Given the description of an element on the screen output the (x, y) to click on. 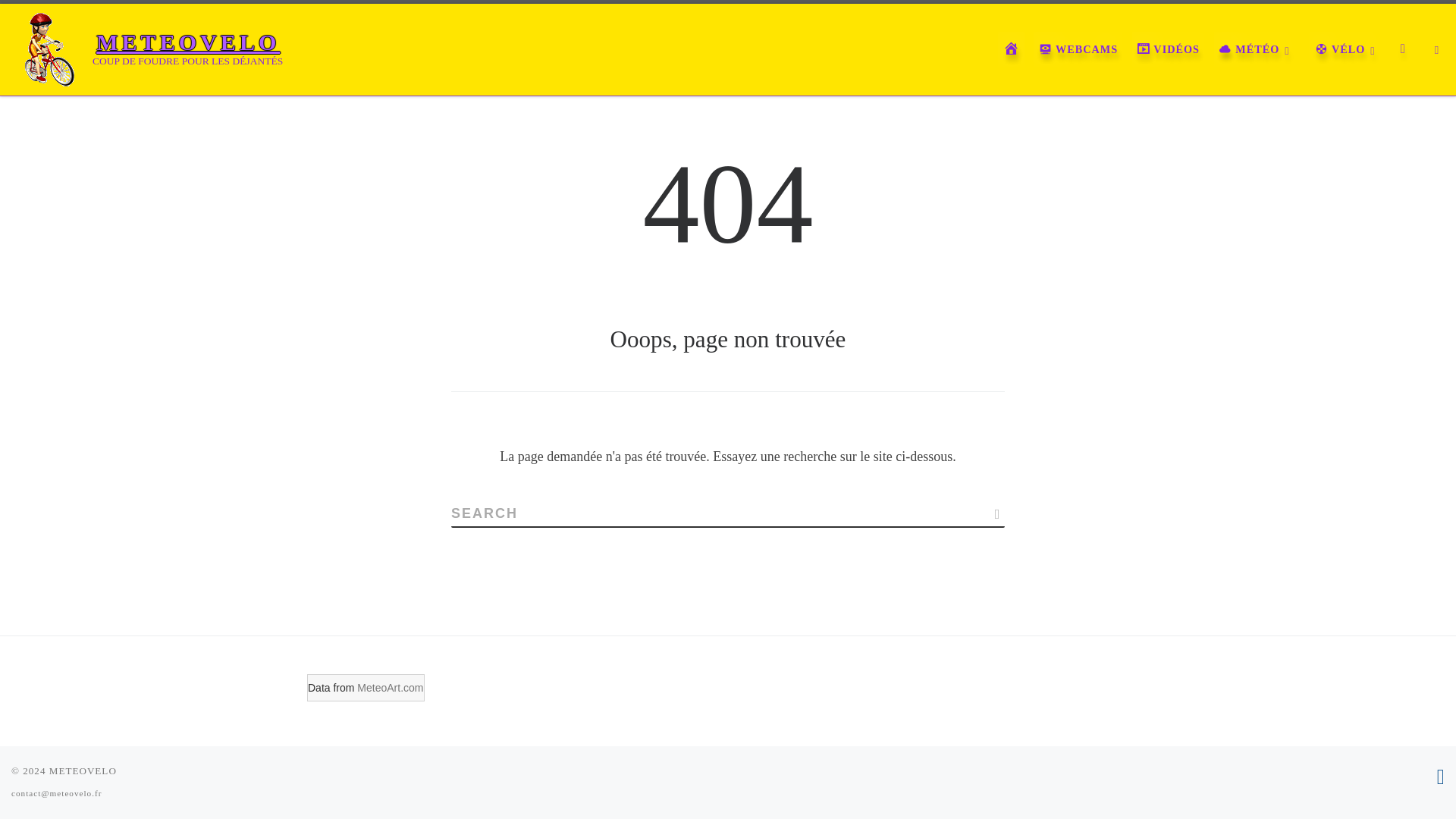
METEOVELO (188, 42)
WEBCAMS (1077, 49)
METEOVELO (82, 770)
